Given the description of an element on the screen output the (x, y) to click on. 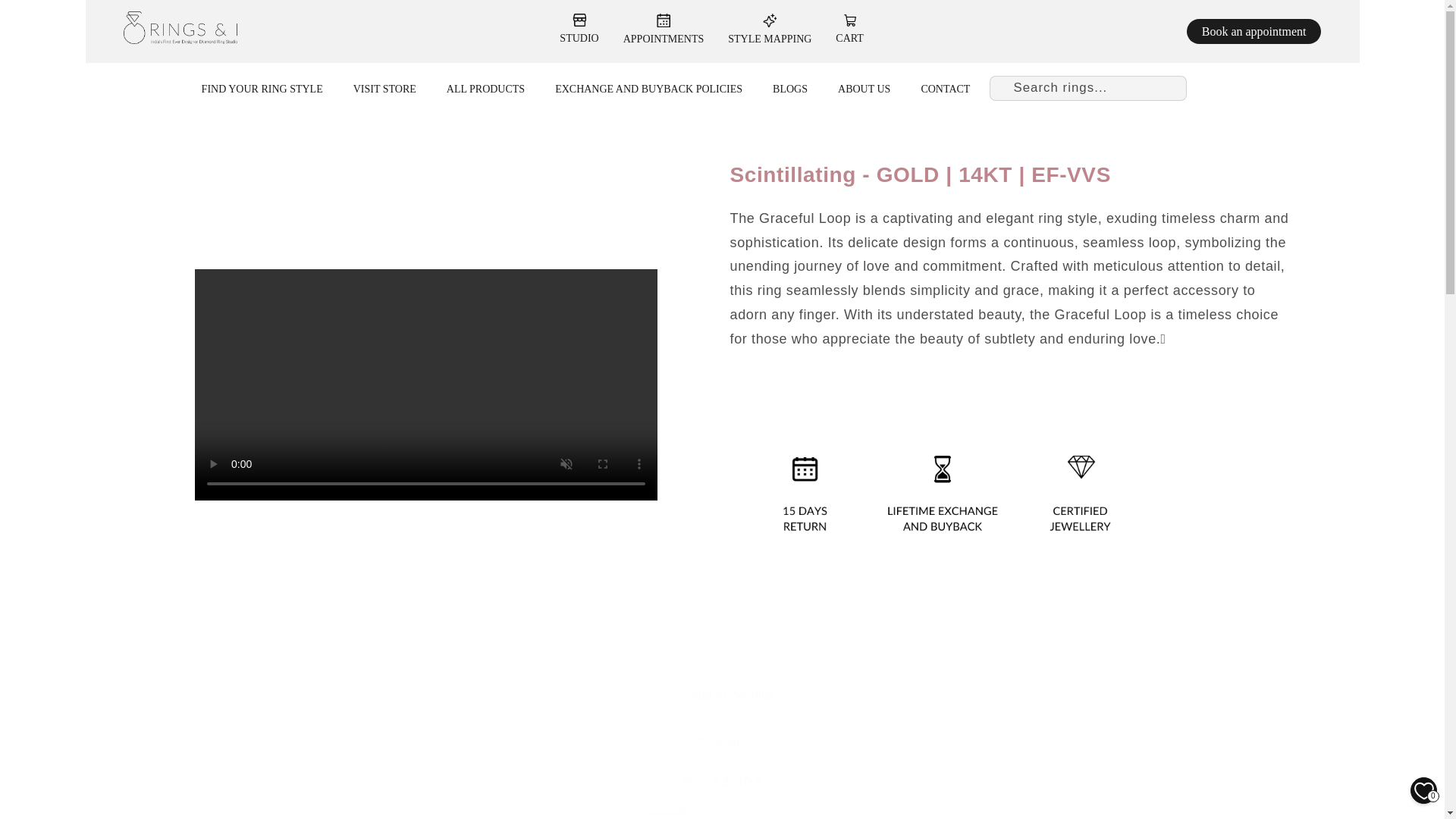
Blogs (789, 89)
Skip to content (47, 17)
Contact (944, 89)
ALL PRODUCTS (485, 89)
Add to Wishlist (722, 694)
Shipping (665, 807)
APPOINTMENTS (663, 29)
FIND YOUR RING STYLE (262, 89)
EXCHANGE AND BUYBACK POLICIES (648, 89)
ABOUT US (864, 89)
About Us (864, 89)
Exchange and Buyback Policies (648, 89)
STUDIO (578, 28)
Book an appointment (1254, 31)
Visit Store (385, 89)
